Given the description of an element on the screen output the (x, y) to click on. 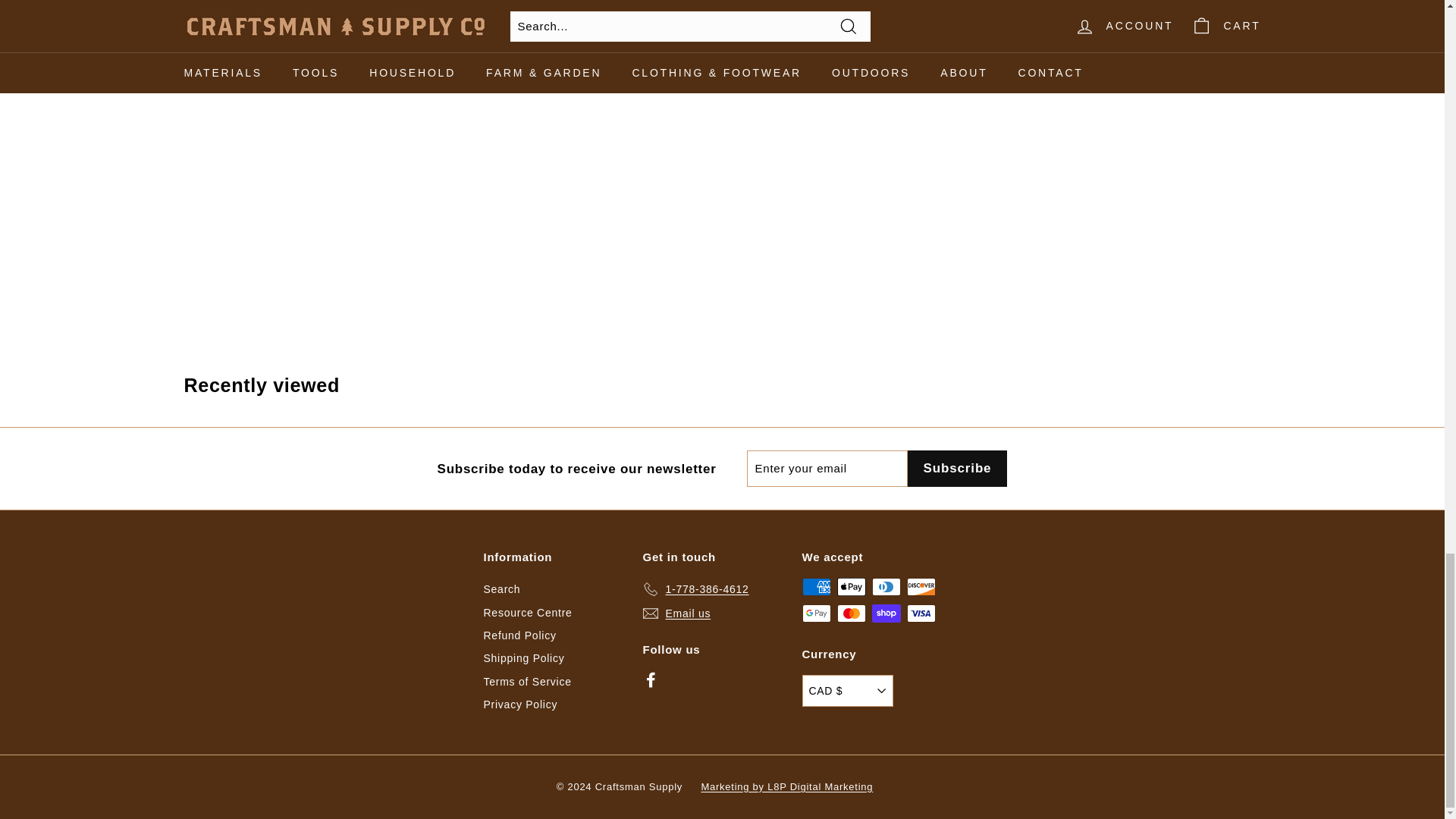
Apple Pay (851, 587)
Ivanhoe (324, 0)
Google Pay (816, 613)
Diners Club (886, 587)
Shop Pay (886, 613)
American Express (816, 587)
Craftsman Supply on Facebook (651, 678)
Mastercard (851, 613)
Discover (921, 587)
